Given the description of an element on the screen output the (x, y) to click on. 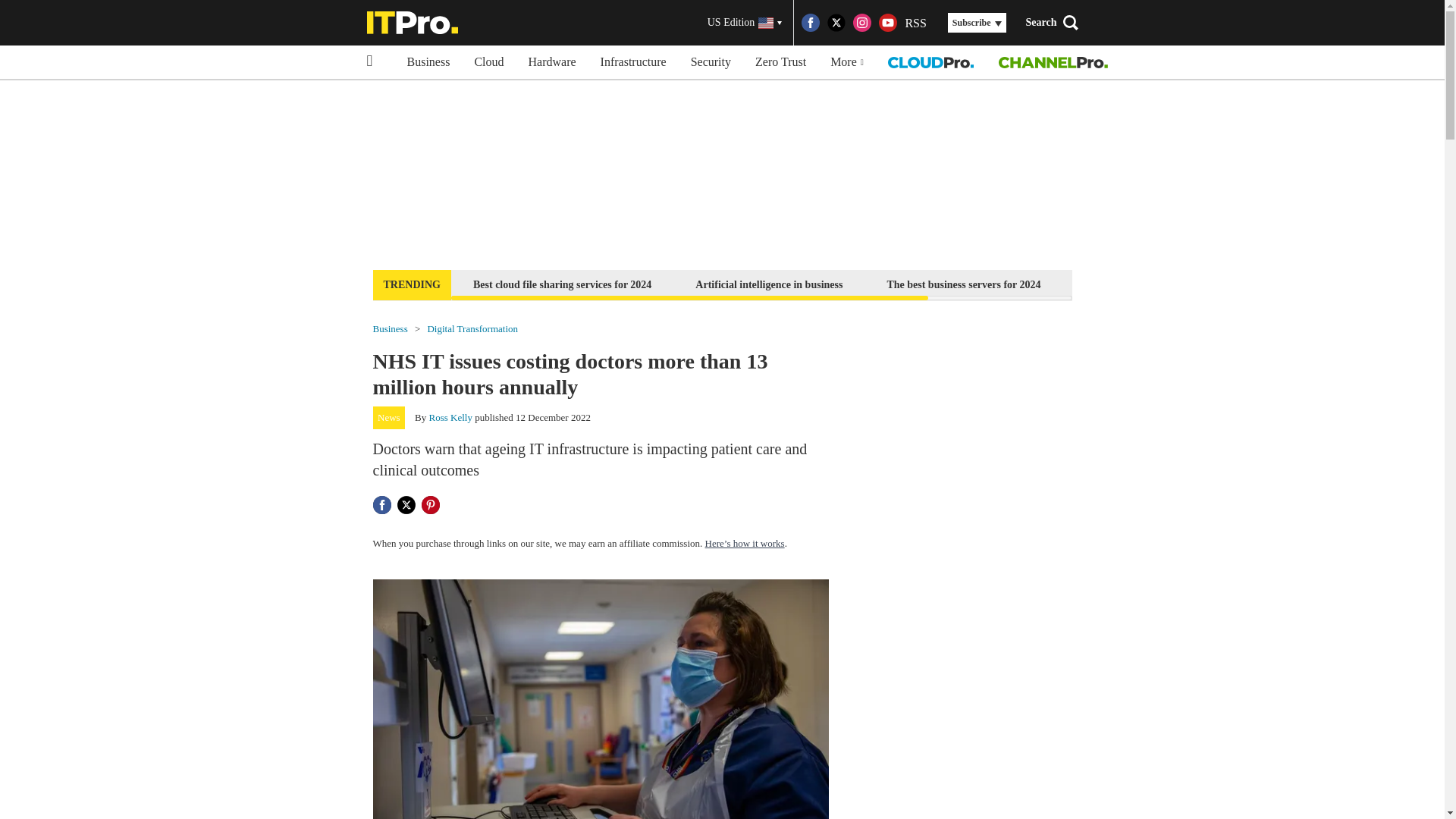
Best cloud file sharing services for 2024 (561, 284)
Business (427, 61)
US Edition (745, 22)
Security (710, 61)
RSS (915, 22)
Business (389, 327)
Hardware (552, 61)
Artificial intelligence in business (768, 284)
The best business servers for 2024 (962, 284)
Subscribe to the ITPro newsletter (1161, 284)
Digital Transformation (472, 327)
Zero Trust (780, 61)
Cloud (488, 61)
News (389, 417)
Ross Kelly (450, 417)
